Given the description of an element on the screen output the (x, y) to click on. 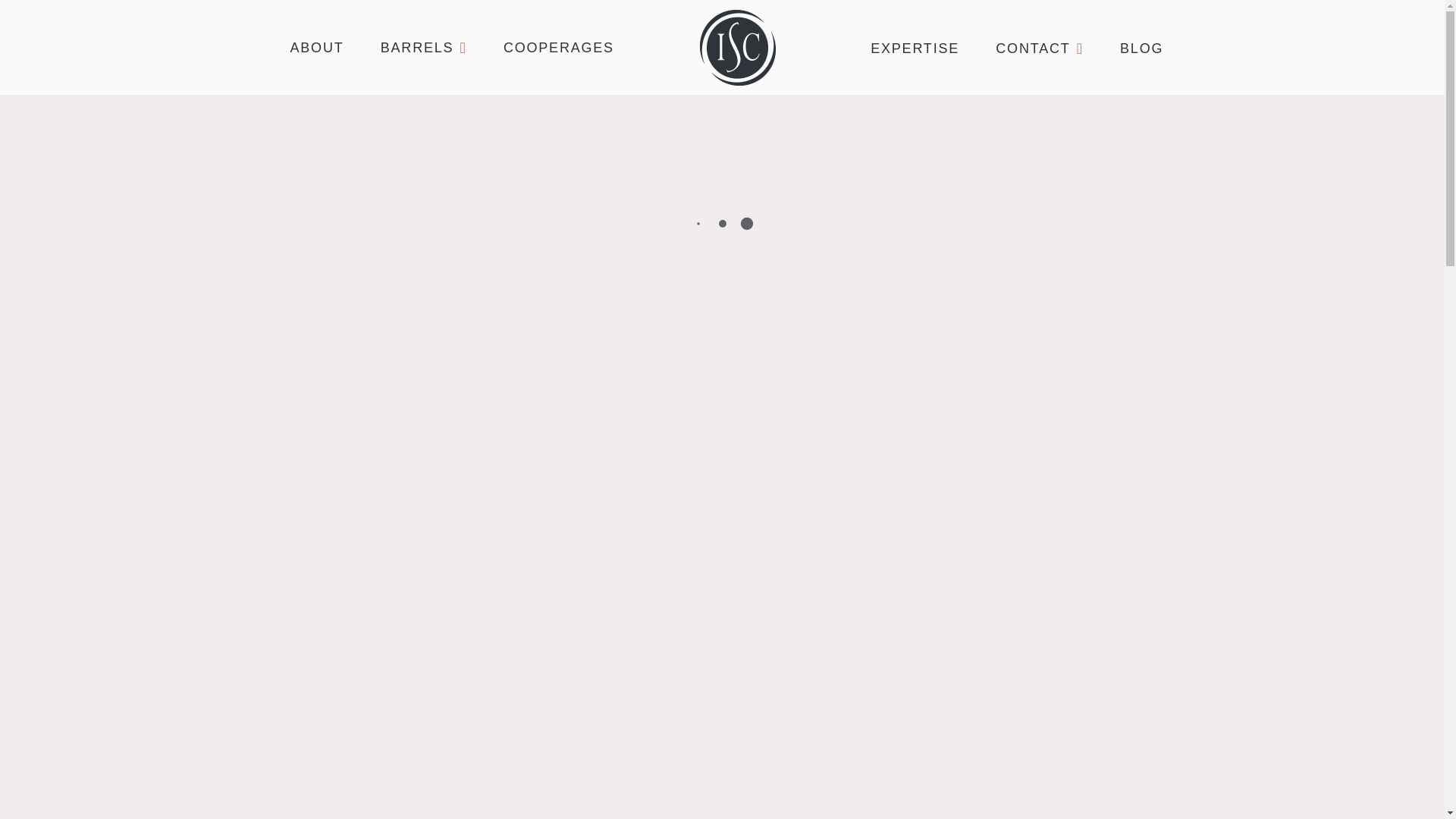
BARRELS (419, 47)
ABOUT (311, 47)
EXPERTISE (909, 47)
CONTACT (1034, 47)
COOPERAGES (553, 47)
BLOG (1136, 47)
